Given the description of an element on the screen output the (x, y) to click on. 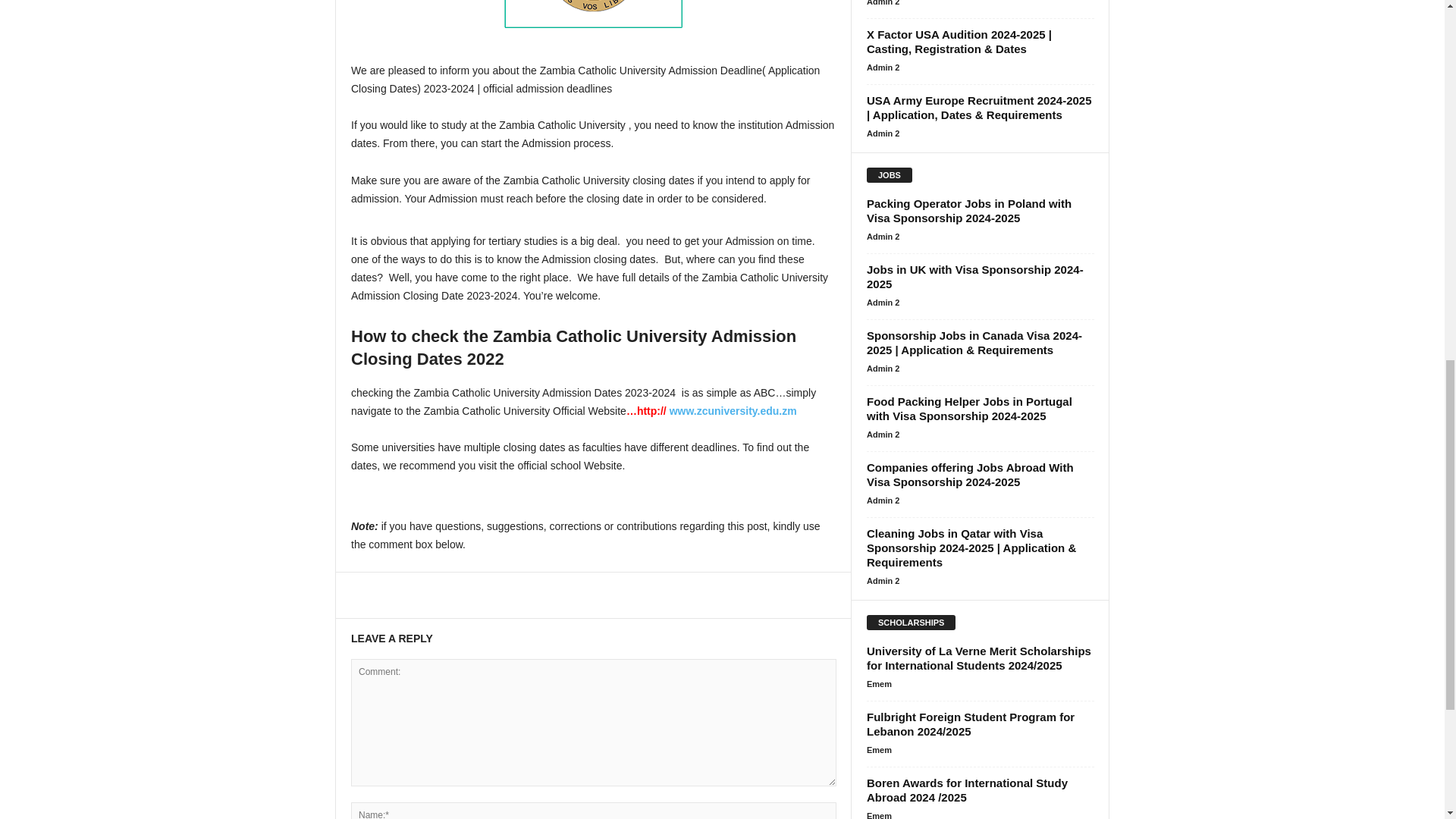
Admin 2 (882, 67)
Admin 2 (882, 2)
www.zcuniversity.edu.zm (732, 410)
